Given the description of an element on the screen output the (x, y) to click on. 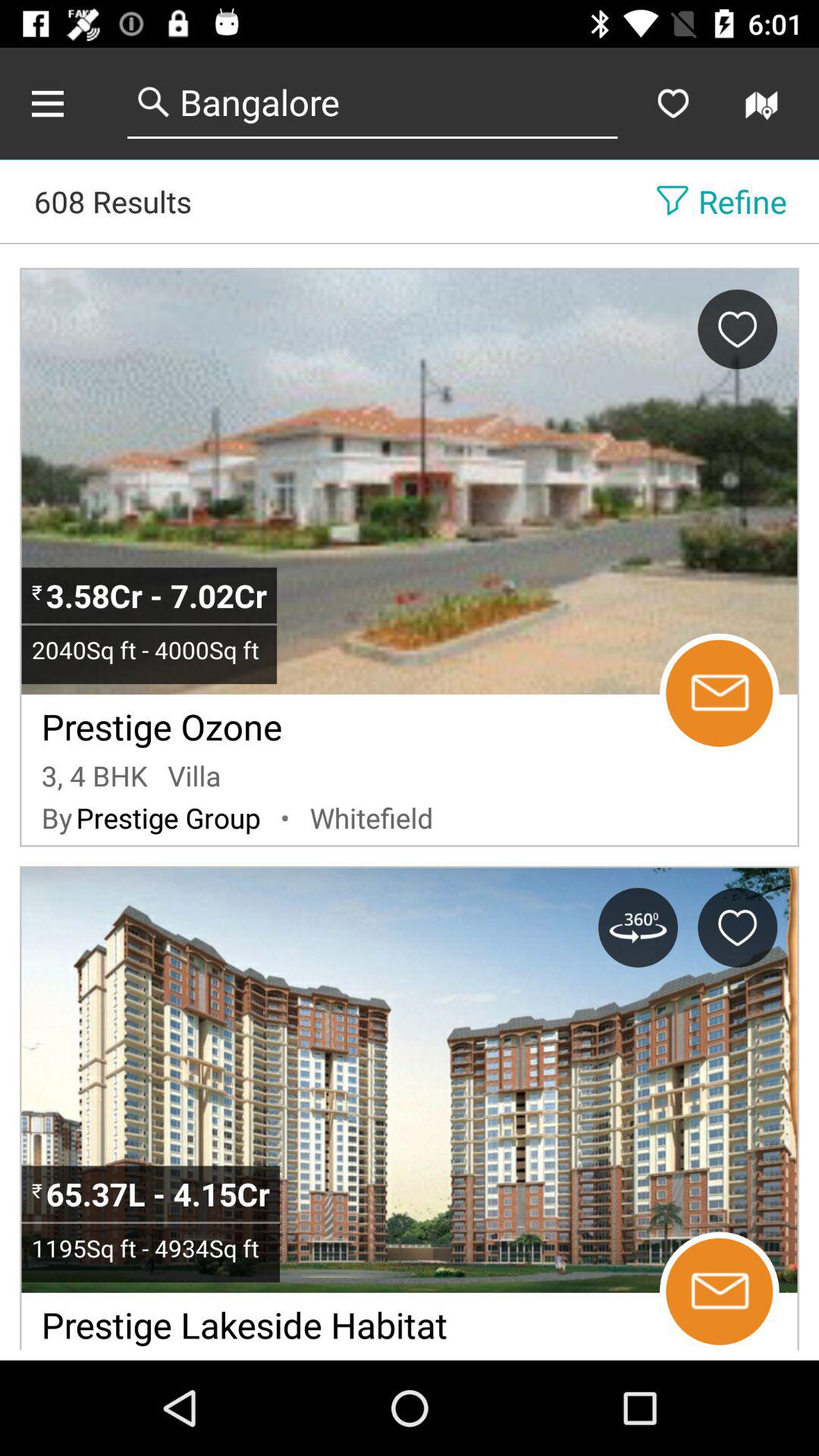
mail (719, 1291)
